Given the description of an element on the screen output the (x, y) to click on. 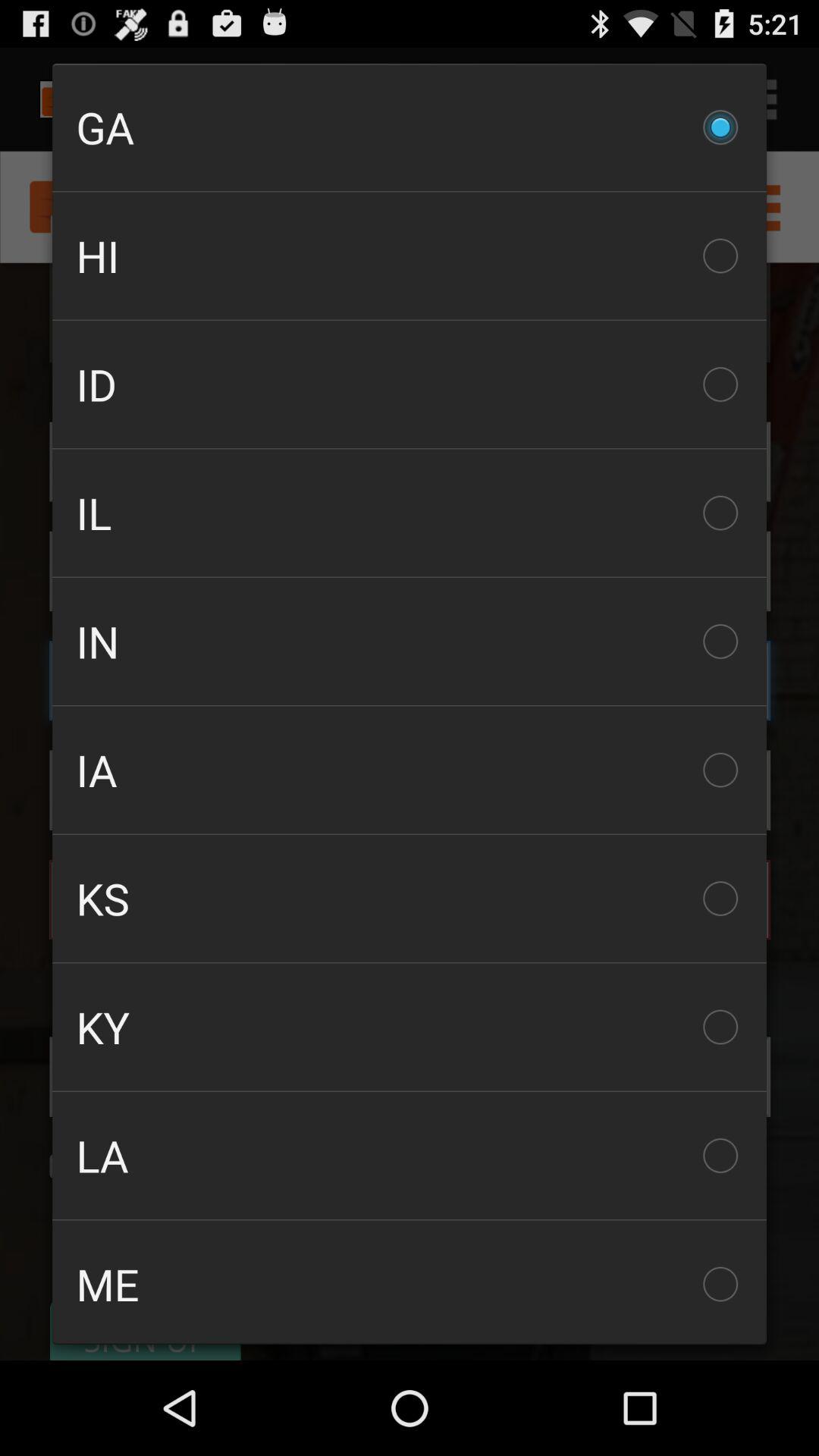
select checkbox below id item (409, 512)
